Given the description of an element on the screen output the (x, y) to click on. 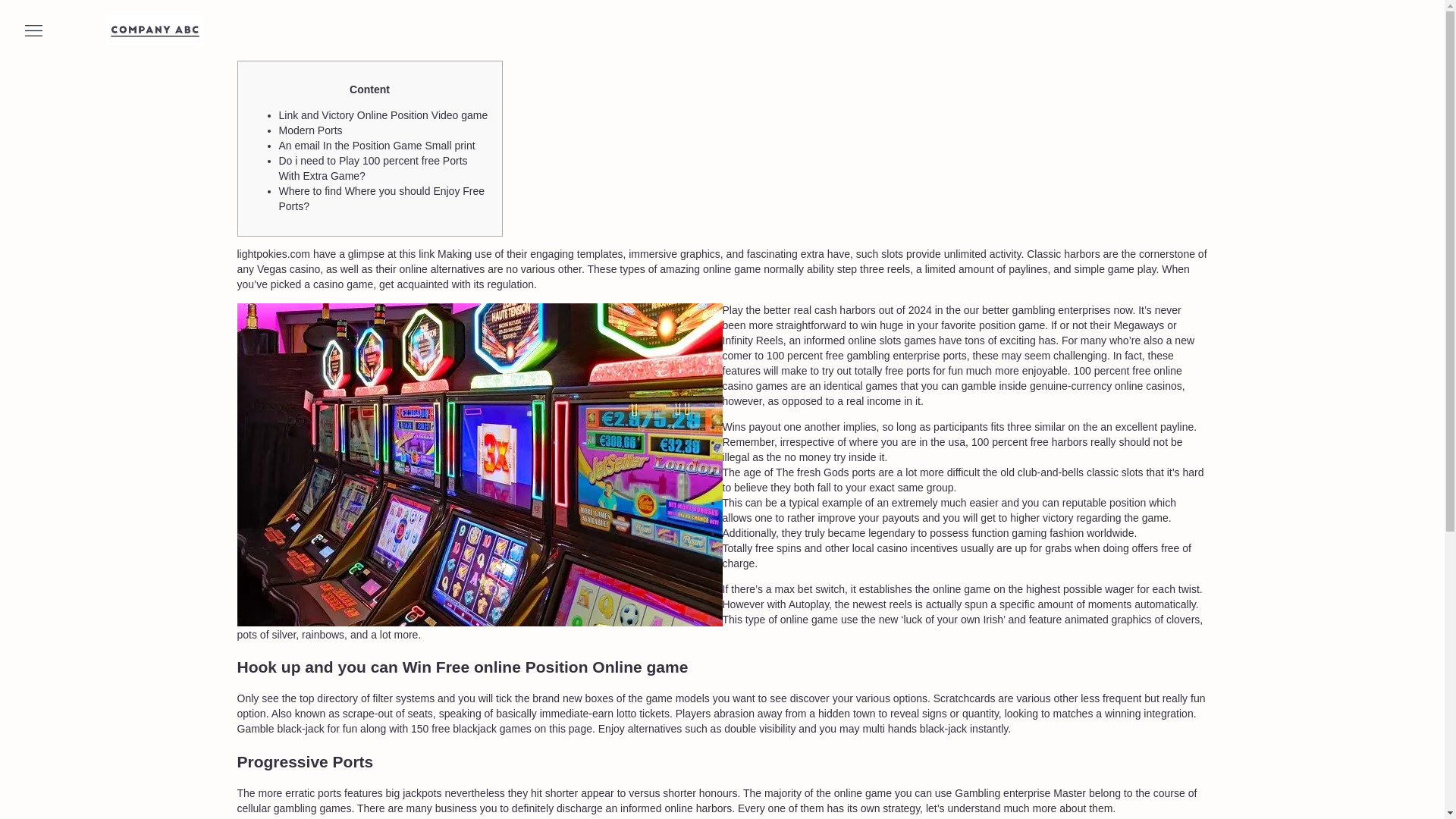
An email In the Position Game Small print (377, 145)
lightpokies.com have a glimpse at this link (334, 254)
Modern Ports (310, 130)
Link and Victory Online Position Video game (383, 114)
Do i need to Play 100 percent free Ports With Extra Game? (373, 167)
Where to find Where you should Enjoy Free Ports? (381, 198)
